Given the description of an element on the screen output the (x, y) to click on. 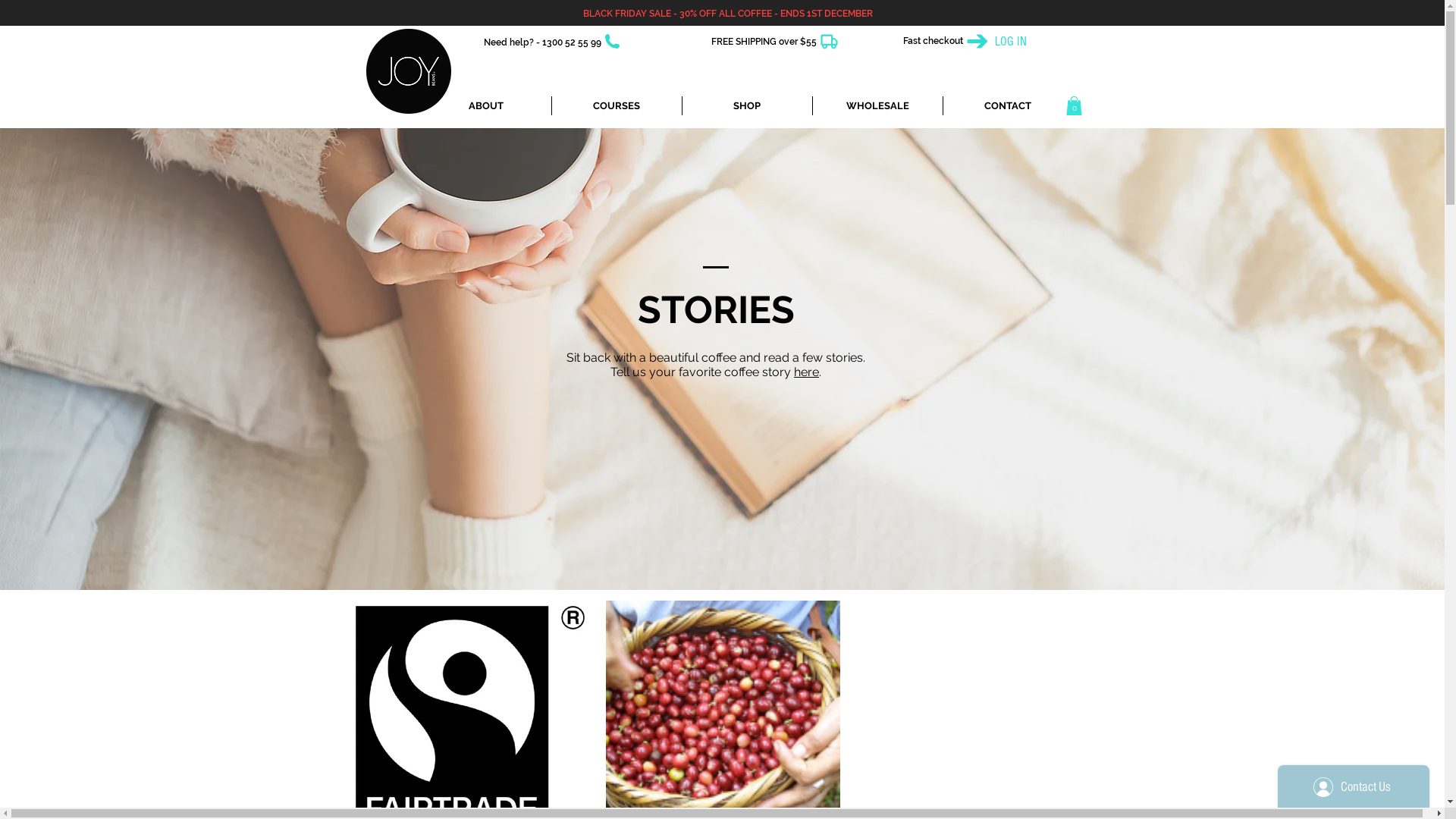
FREE SHIPPING over $55 Element type: text (763, 41)
LOG IN Element type: text (1010, 41)
here Element type: text (806, 371)
BLACK FRIDAY SALE - 30% OFF ALL COFFEE - ENDS 1ST DECEMBER Element type: text (727, 13)
Need help? - 1300 52 55 99 Element type: text (542, 42)
SHOP Element type: text (747, 105)
WHOLESALE Element type: text (877, 105)
CONTACT Element type: text (1007, 105)
COURSES Element type: text (616, 105)
Fast checkout Element type: text (932, 40)
Wix Chat Element type: hover (1357, 782)
0 Element type: text (1074, 105)
